Given the description of an element on the screen output the (x, y) to click on. 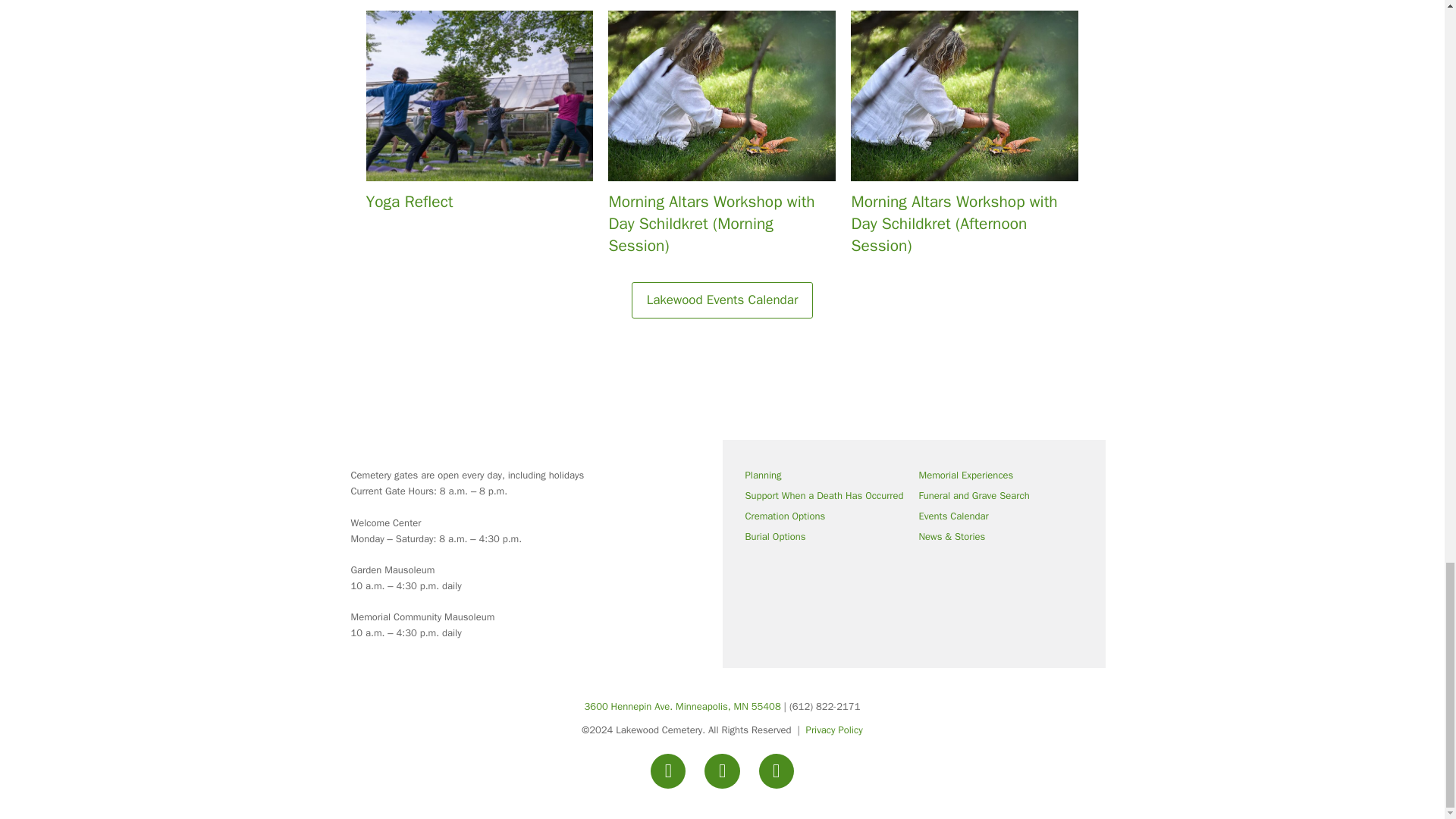
Instagram (721, 770)
Facebook (667, 770)
Email (775, 770)
Yoga Reflect (478, 116)
